Given the description of an element on the screen output the (x, y) to click on. 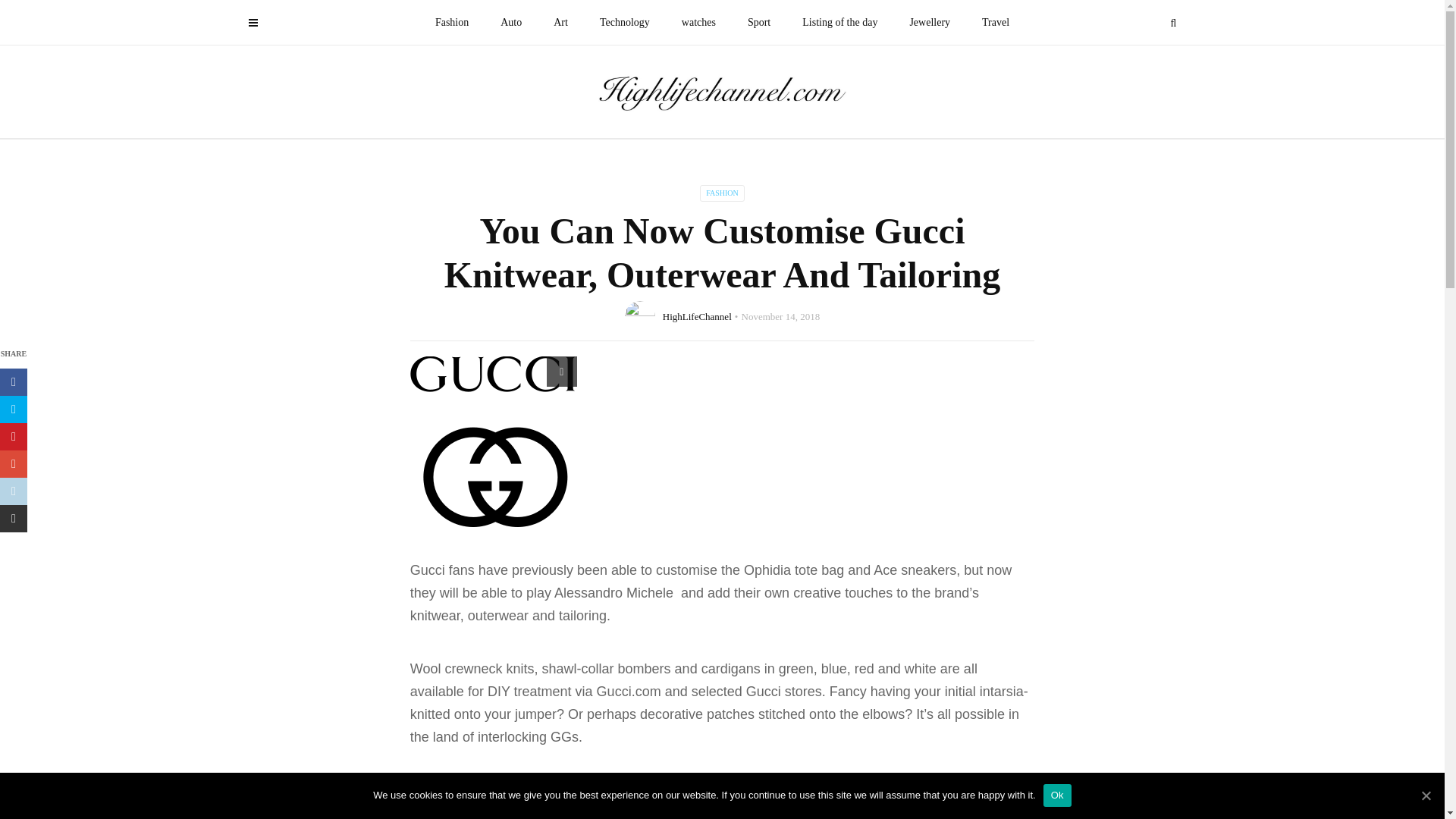
Travel (995, 22)
Technology (624, 22)
Sport (759, 22)
HighLifeChannel (697, 316)
watches (698, 22)
Auto (510, 22)
Fashion (451, 22)
FASHION (722, 193)
Jewellery (929, 22)
Listing of the day (839, 22)
